Given the description of an element on the screen output the (x, y) to click on. 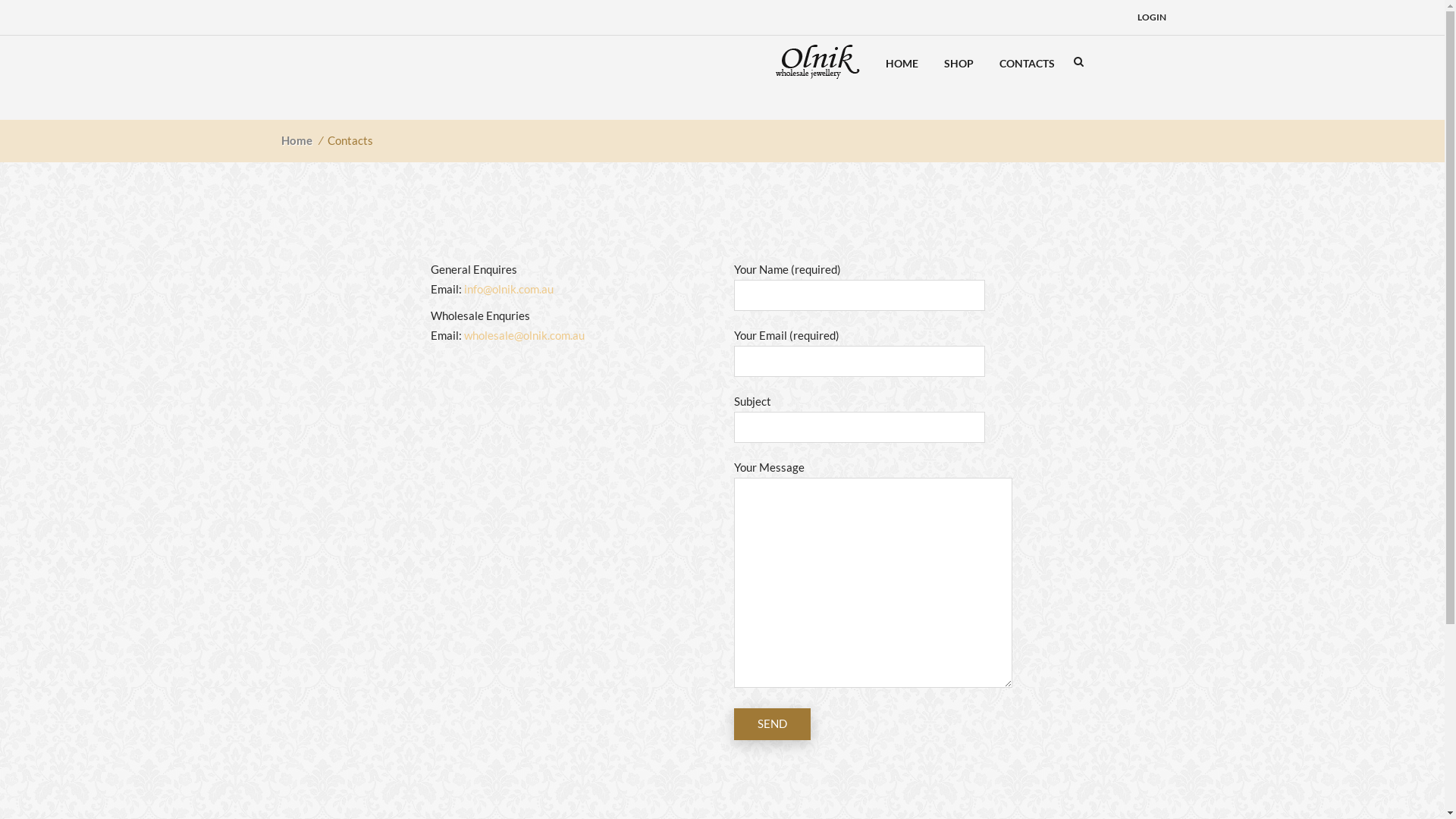
Login Element type: text (1083, 167)
info@olnik.com.au Element type: text (508, 288)
LOGIN Element type: text (1151, 17)
HOME Element type: text (901, 62)
Home Element type: text (296, 140)
wholesale@olnik.com.au Element type: text (524, 334)
Send Element type: text (772, 724)
SHOP Element type: text (958, 62)
CONTACTS Element type: text (1025, 62)
